Given the description of an element on the screen output the (x, y) to click on. 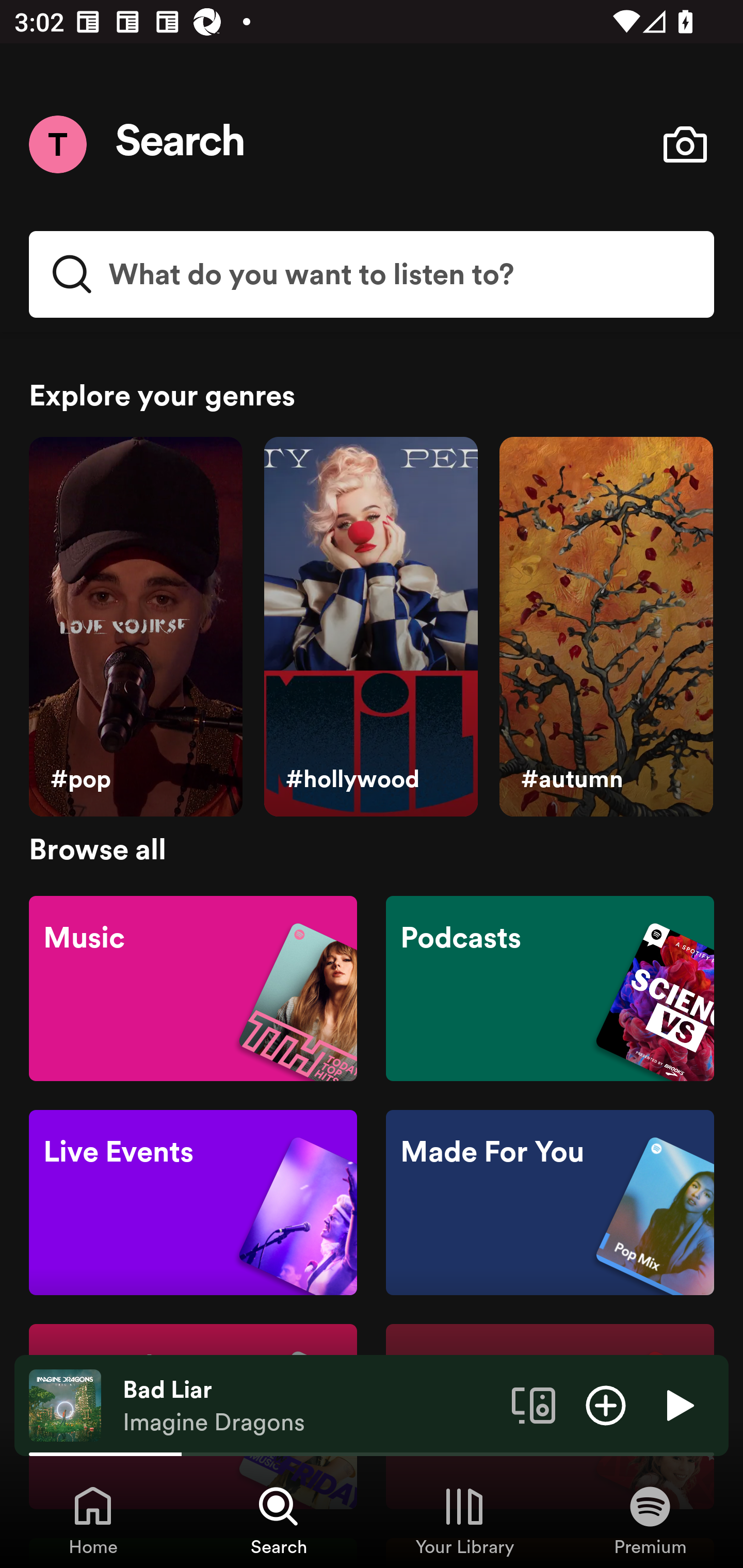
Menu (57, 144)
Open camera (685, 145)
Search (180, 144)
#pop (135, 626)
#hollywood (370, 626)
#autumn (606, 626)
Music (192, 987)
Podcasts (549, 987)
Live Events (192, 1202)
Made For You (549, 1202)
Bad Liar Imagine Dragons (309, 1405)
The cover art of the currently playing track (64, 1404)
Connect to a device. Opens the devices menu (533, 1404)
Add item (605, 1404)
Play (677, 1404)
Home, Tab 1 of 4 Home Home (92, 1519)
Search, Tab 2 of 4 Search Search (278, 1519)
Your Library, Tab 3 of 4 Your Library Your Library (464, 1519)
